Given the description of an element on the screen output the (x, y) to click on. 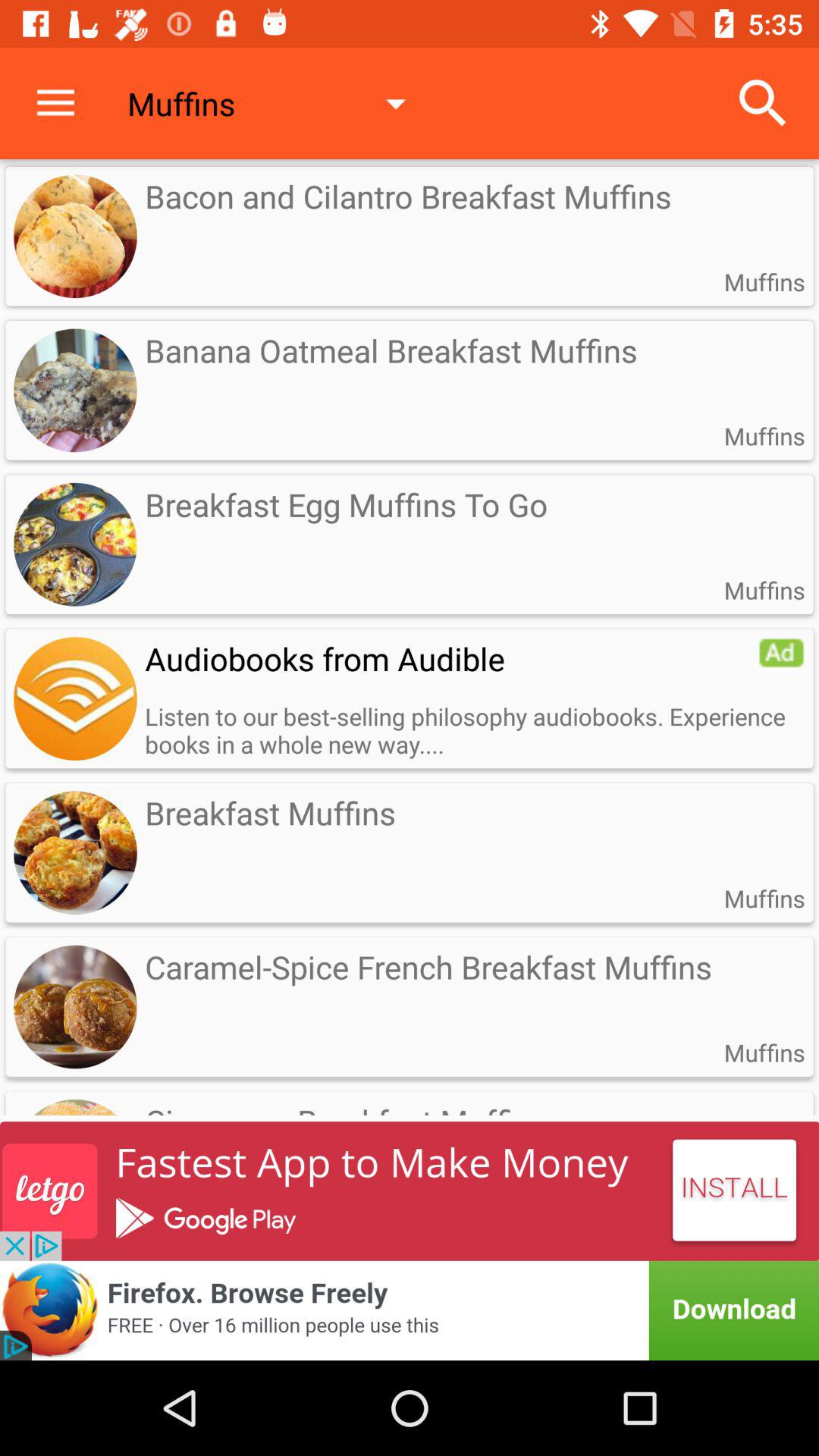
click google play advertisement (409, 1190)
